Given the description of an element on the screen output the (x, y) to click on. 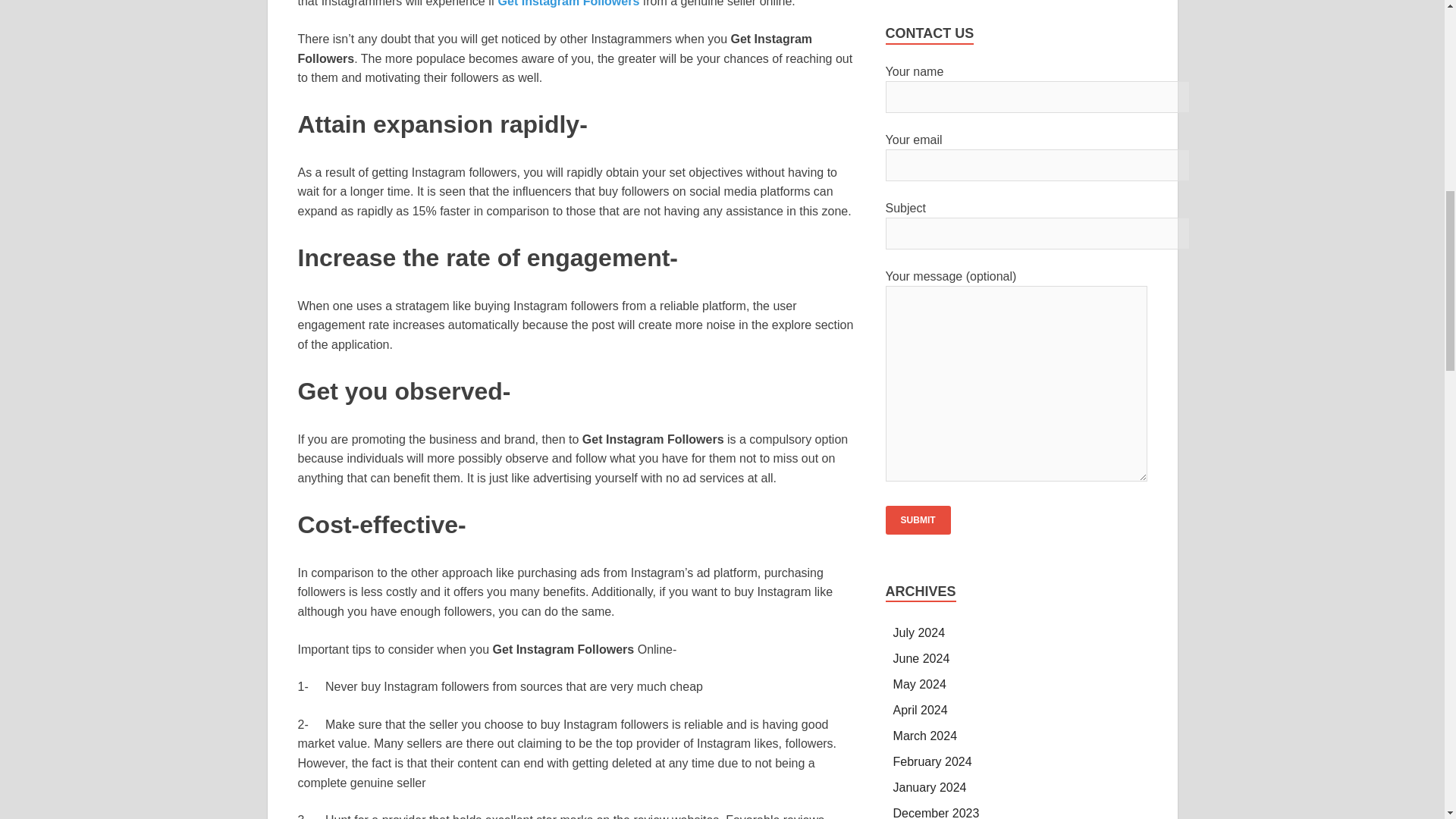
Get Instagram Followers (568, 3)
Submit (917, 520)
